Given the description of an element on the screen output the (x, y) to click on. 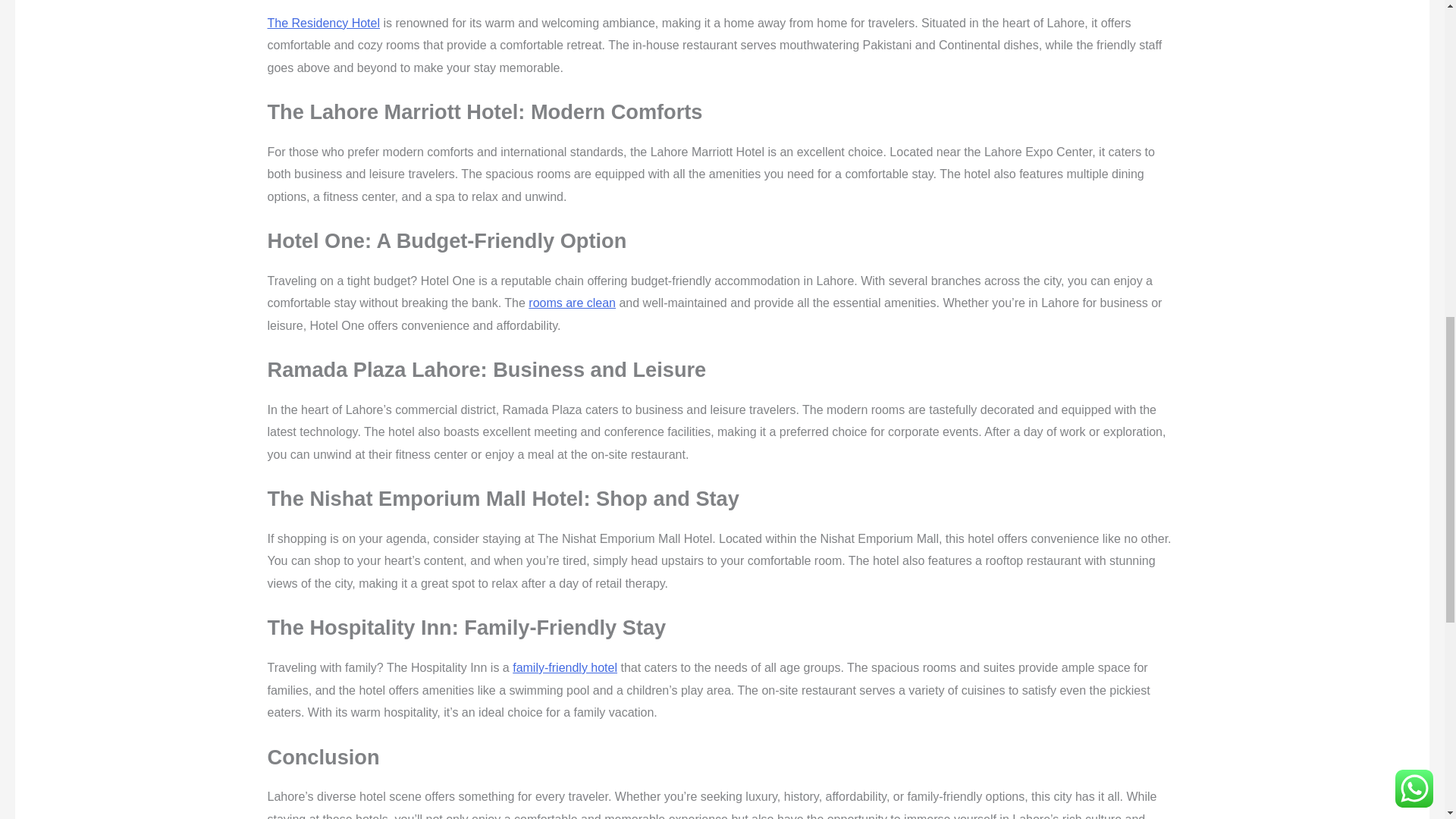
The Residency Hotel (323, 22)
family-friendly hotel (564, 667)
rooms are clean (571, 302)
